Given the description of an element on the screen output the (x, y) to click on. 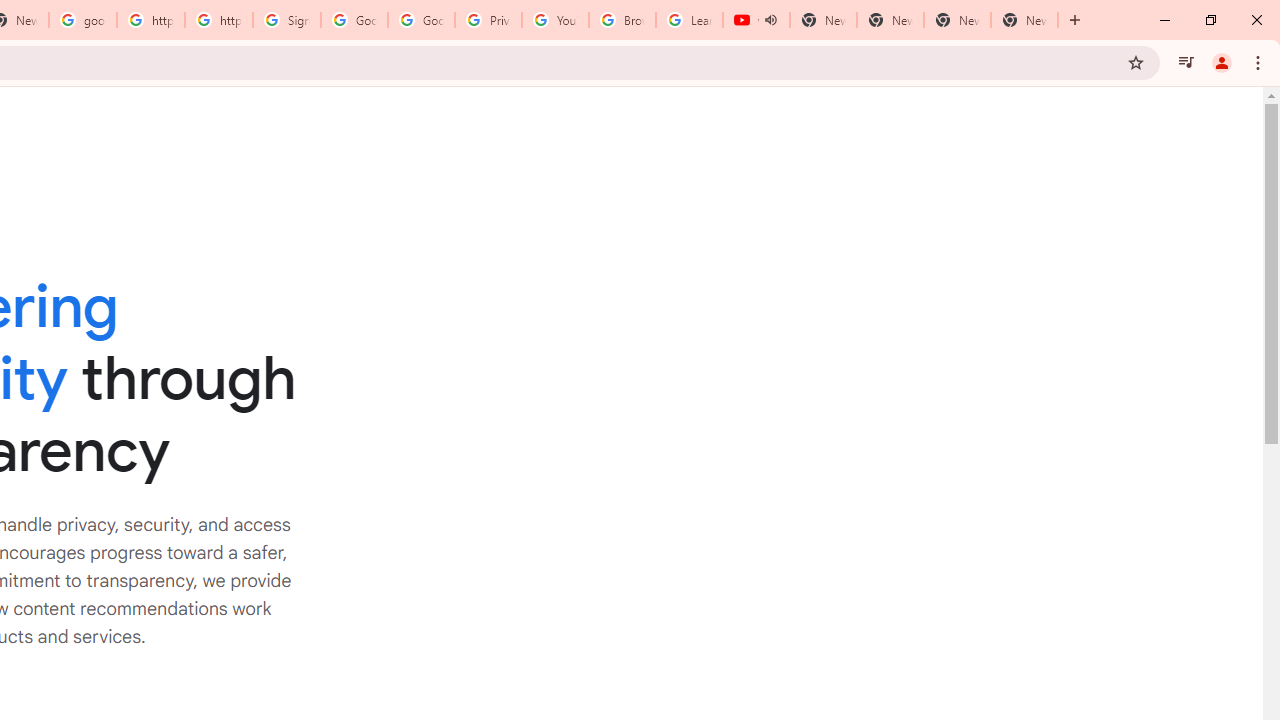
Sign in - Google Accounts (287, 20)
Mute tab (770, 20)
https://scholar.google.com/ (150, 20)
New Tab (1024, 20)
